Given the description of an element on the screen output the (x, y) to click on. 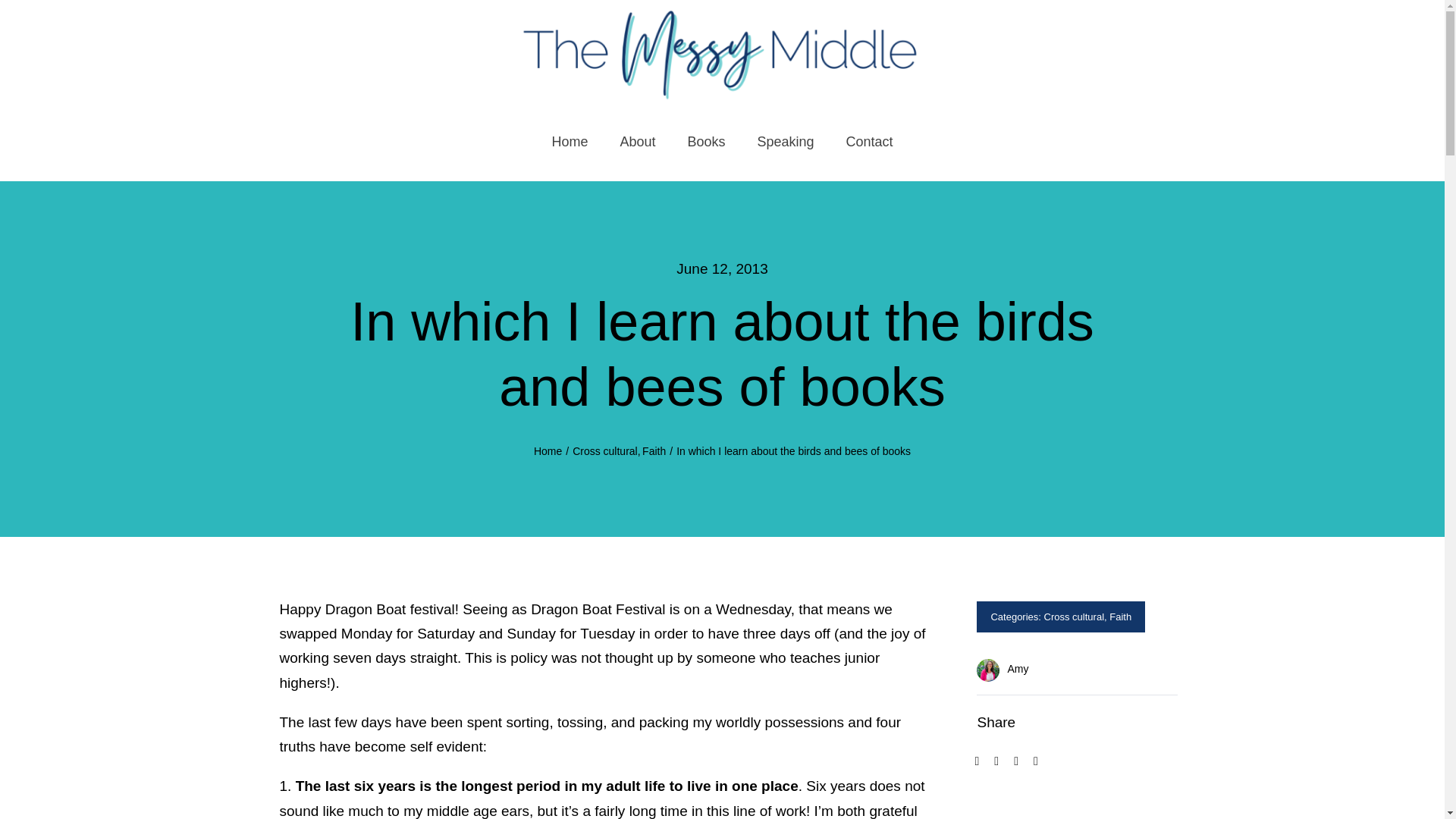
Faith (653, 451)
X (996, 761)
Cross cultural (1073, 616)
Facebook (976, 761)
Faith (1120, 616)
Reddit (1016, 761)
Contact (869, 142)
About (636, 142)
Books (705, 142)
Pinterest (1035, 761)
